Given the description of an element on the screen output the (x, y) to click on. 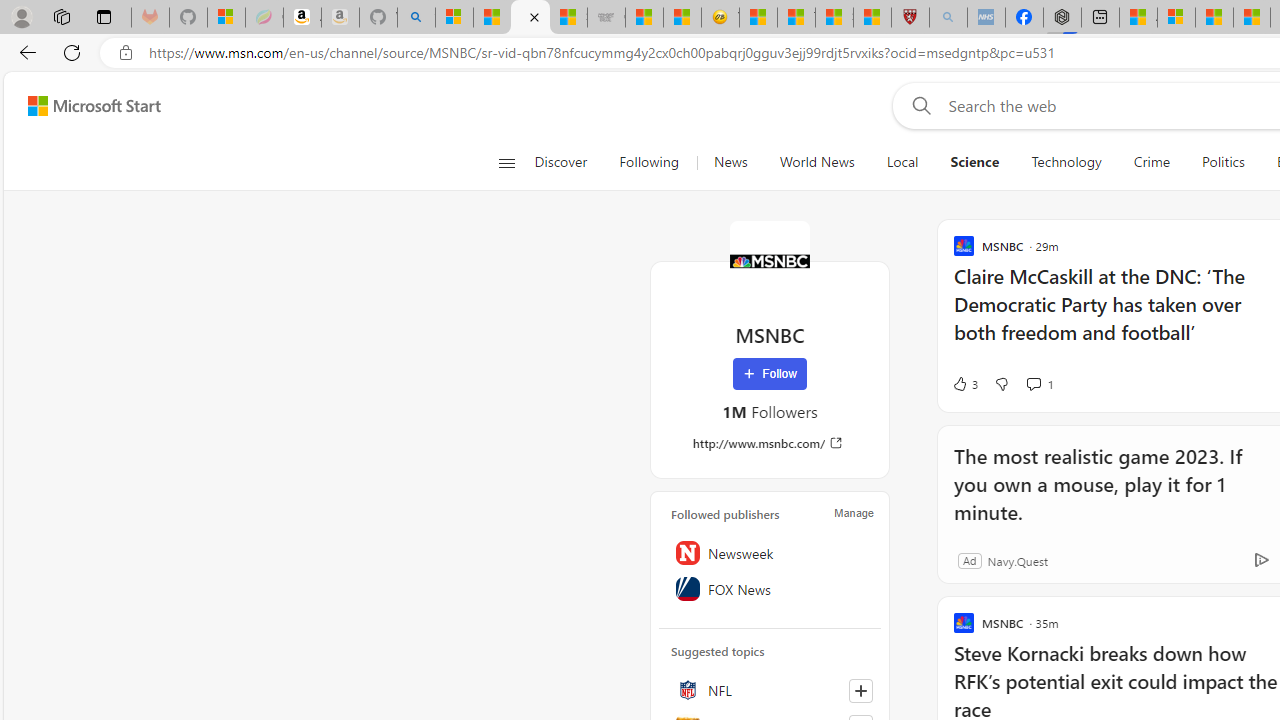
Ad Choice (1261, 560)
